Given the description of an element on the screen output the (x, y) to click on. 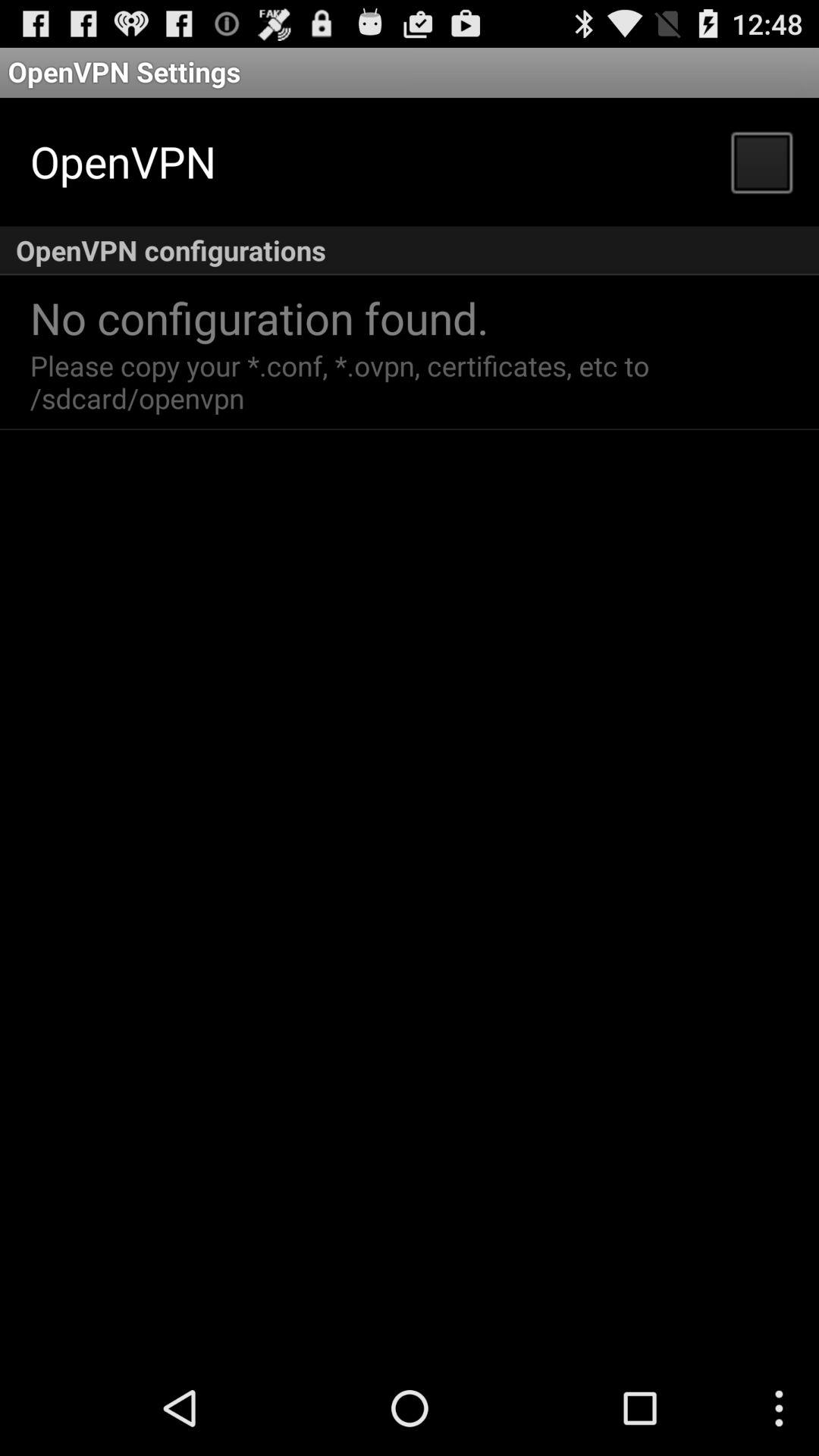
launch checkbox at the top right corner (761, 161)
